Given the description of an element on the screen output the (x, y) to click on. 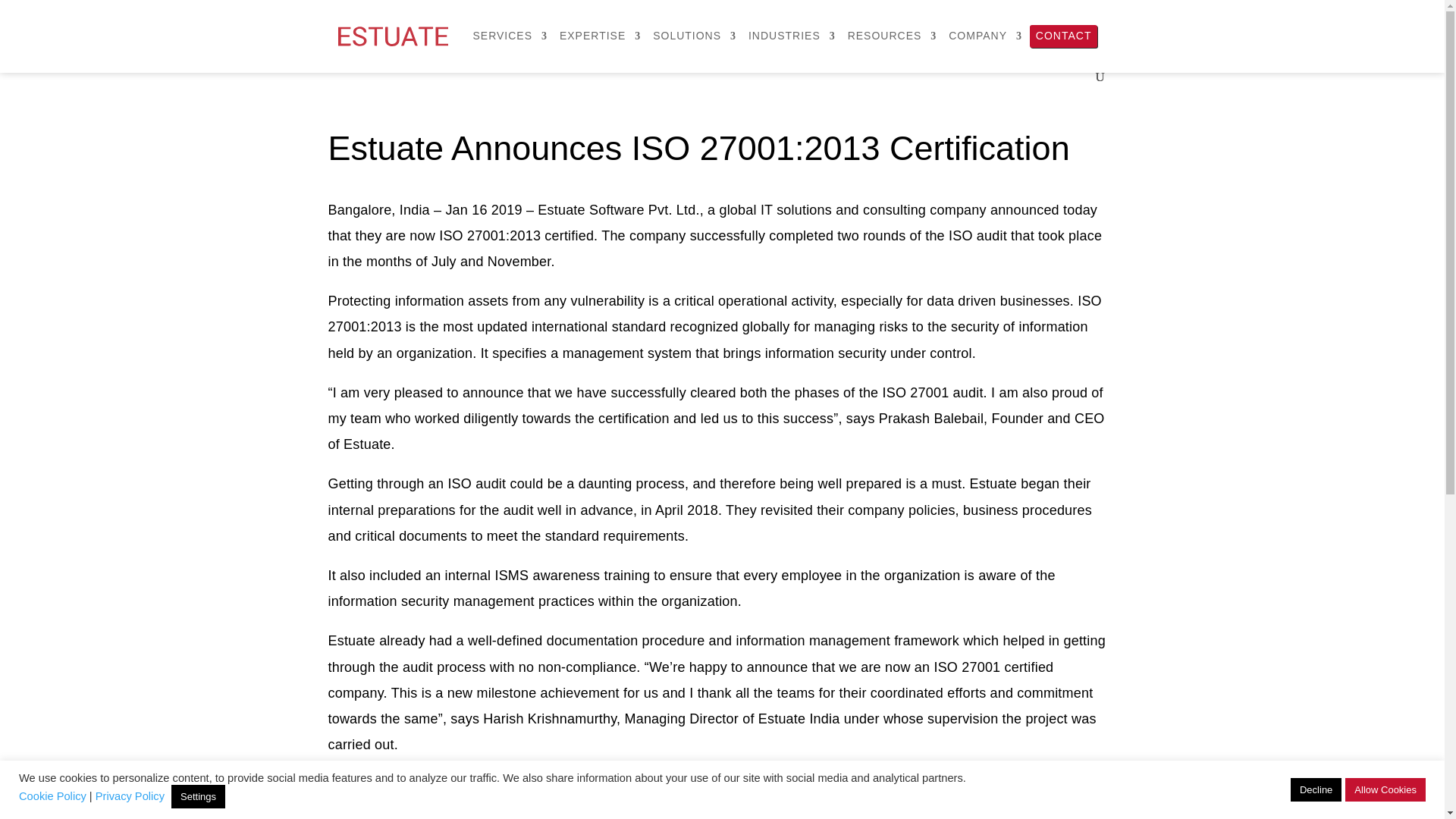
SERVICES (510, 48)
